Given the description of an element on the screen output the (x, y) to click on. 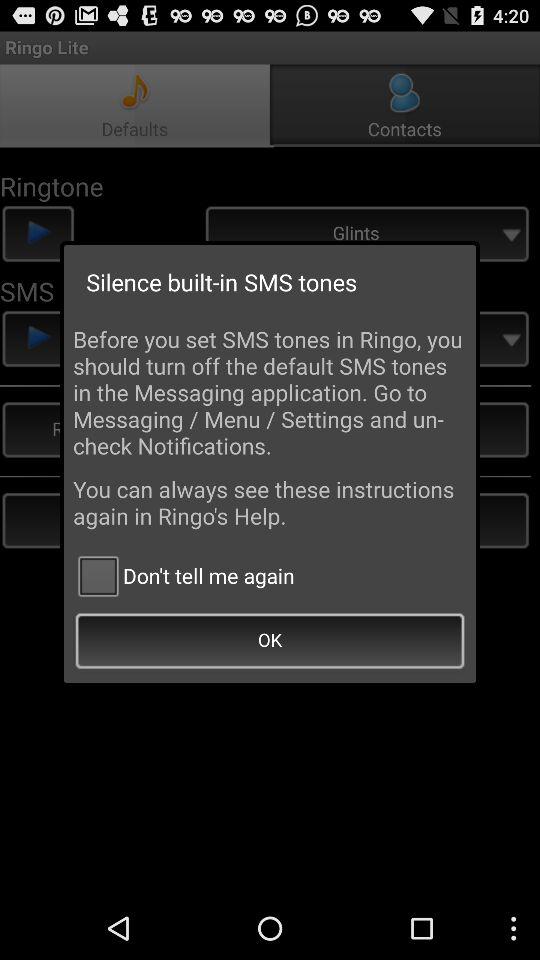
scroll to the don t tell icon (183, 575)
